Given the description of an element on the screen output the (x, y) to click on. 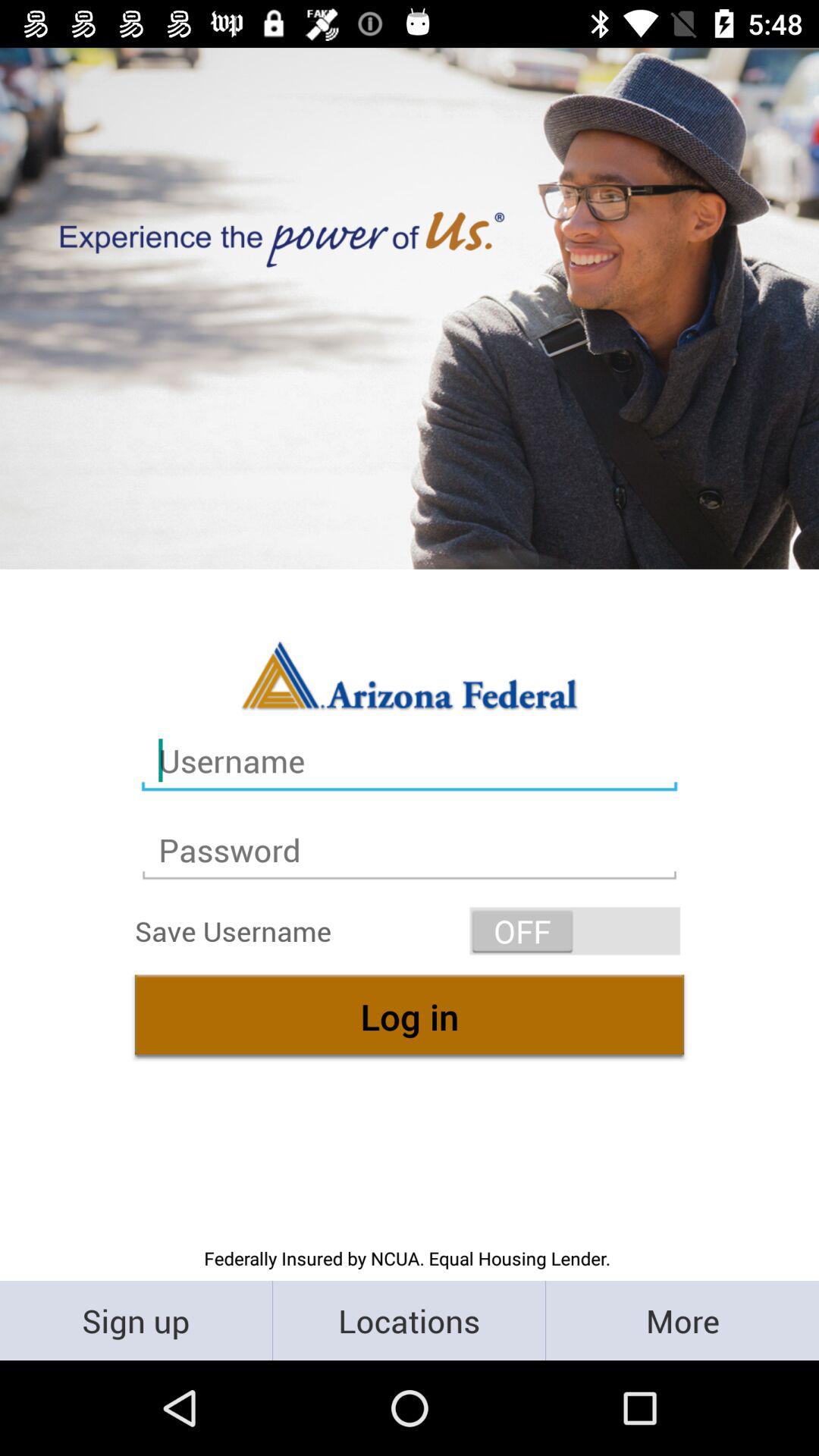
turn off the item next to locations (682, 1320)
